Given the description of an element on the screen output the (x, y) to click on. 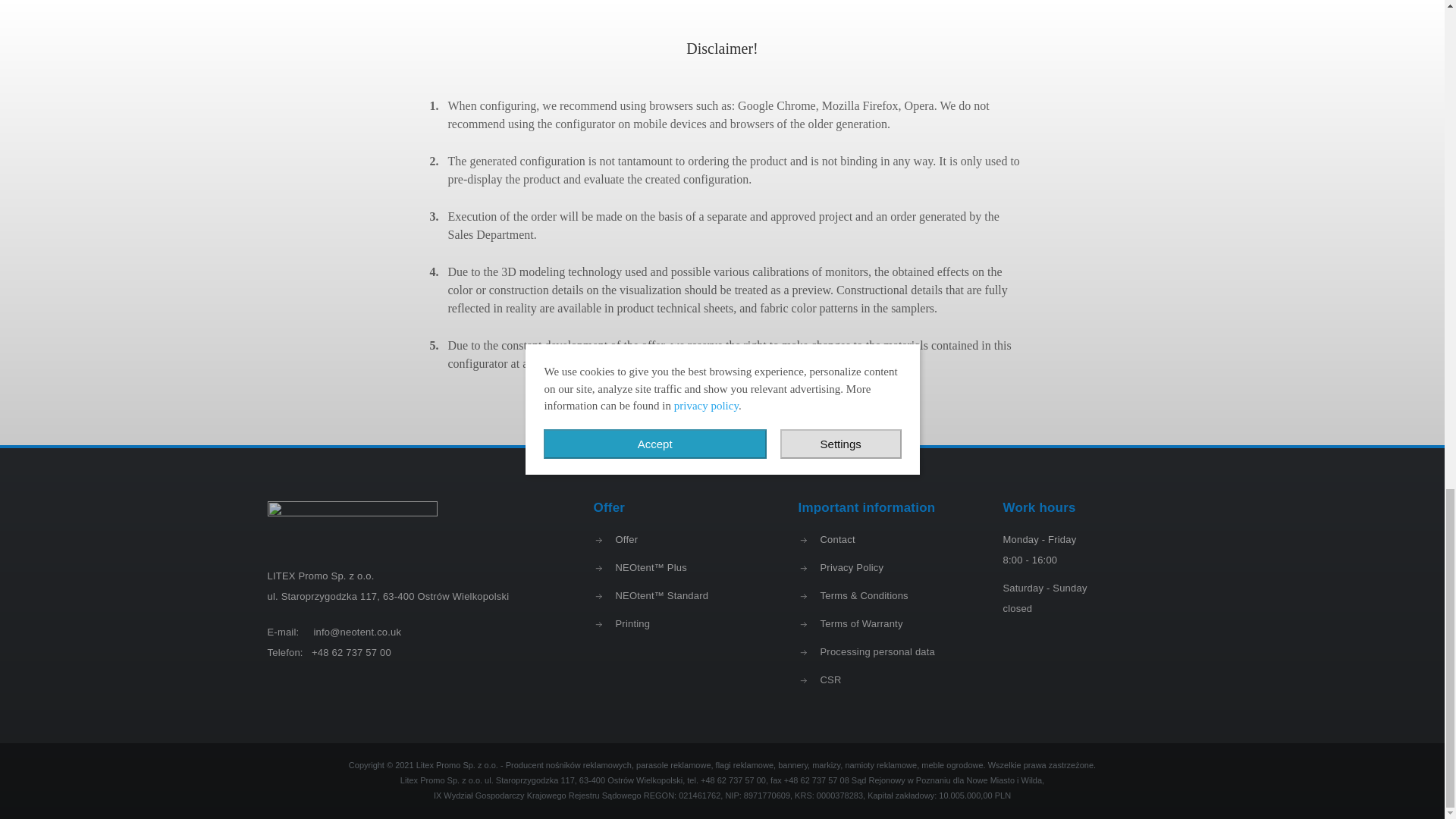
Processing personal data (884, 651)
Terms of Warranty (884, 623)
Printing (679, 623)
Privacy Policy (884, 567)
CSR (884, 679)
Contact (884, 539)
Offer (679, 539)
